Given the description of an element on the screen output the (x, y) to click on. 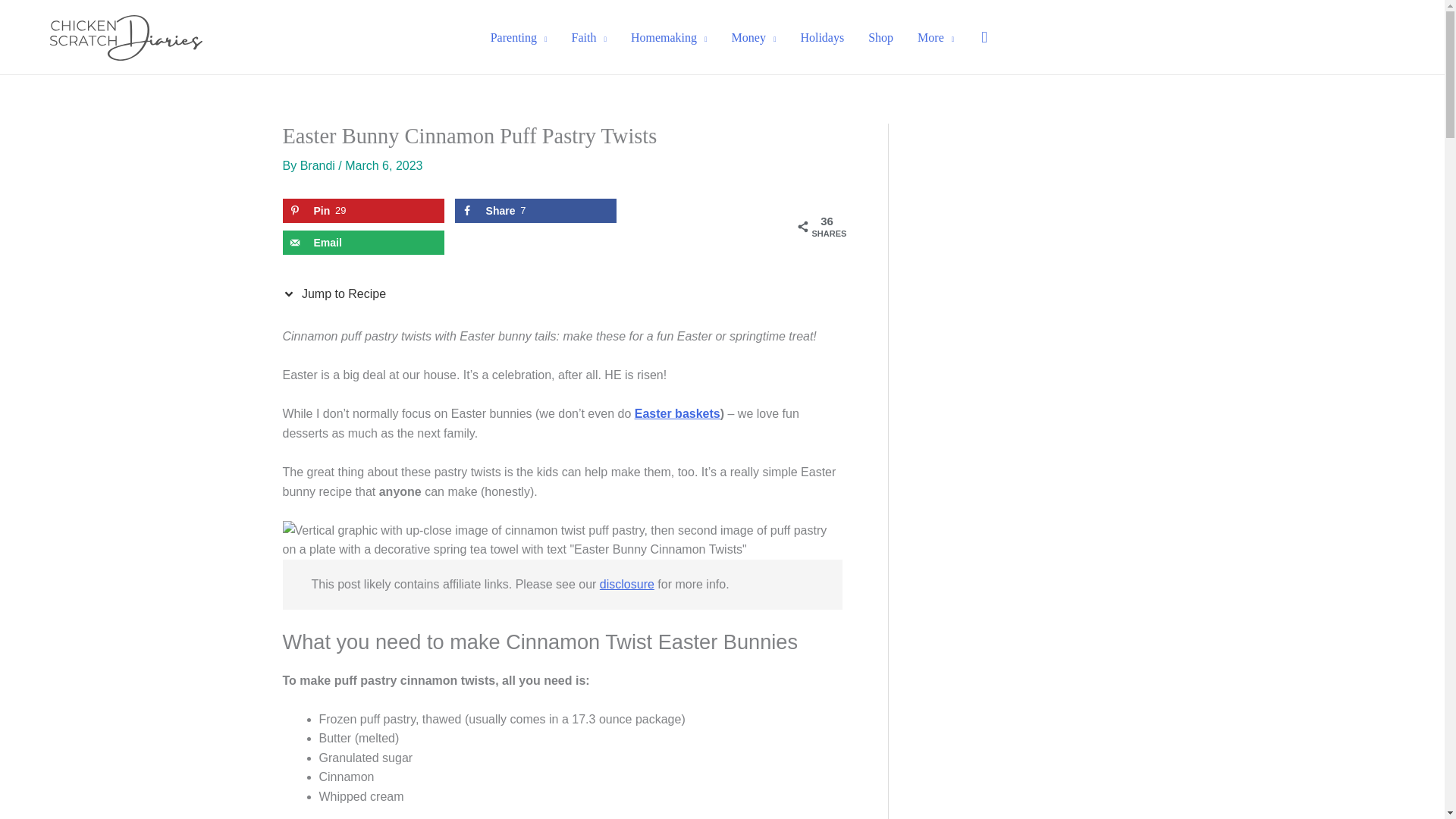
More (935, 37)
Send over email (363, 242)
Faith (588, 37)
Parenting (519, 37)
Save to Pinterest (363, 210)
Share on Facebook (535, 210)
Money (754, 37)
Shop (880, 37)
Homemaking (668, 37)
View all posts by Brandi (319, 164)
Holidays (821, 37)
